Given the description of an element on the screen output the (x, y) to click on. 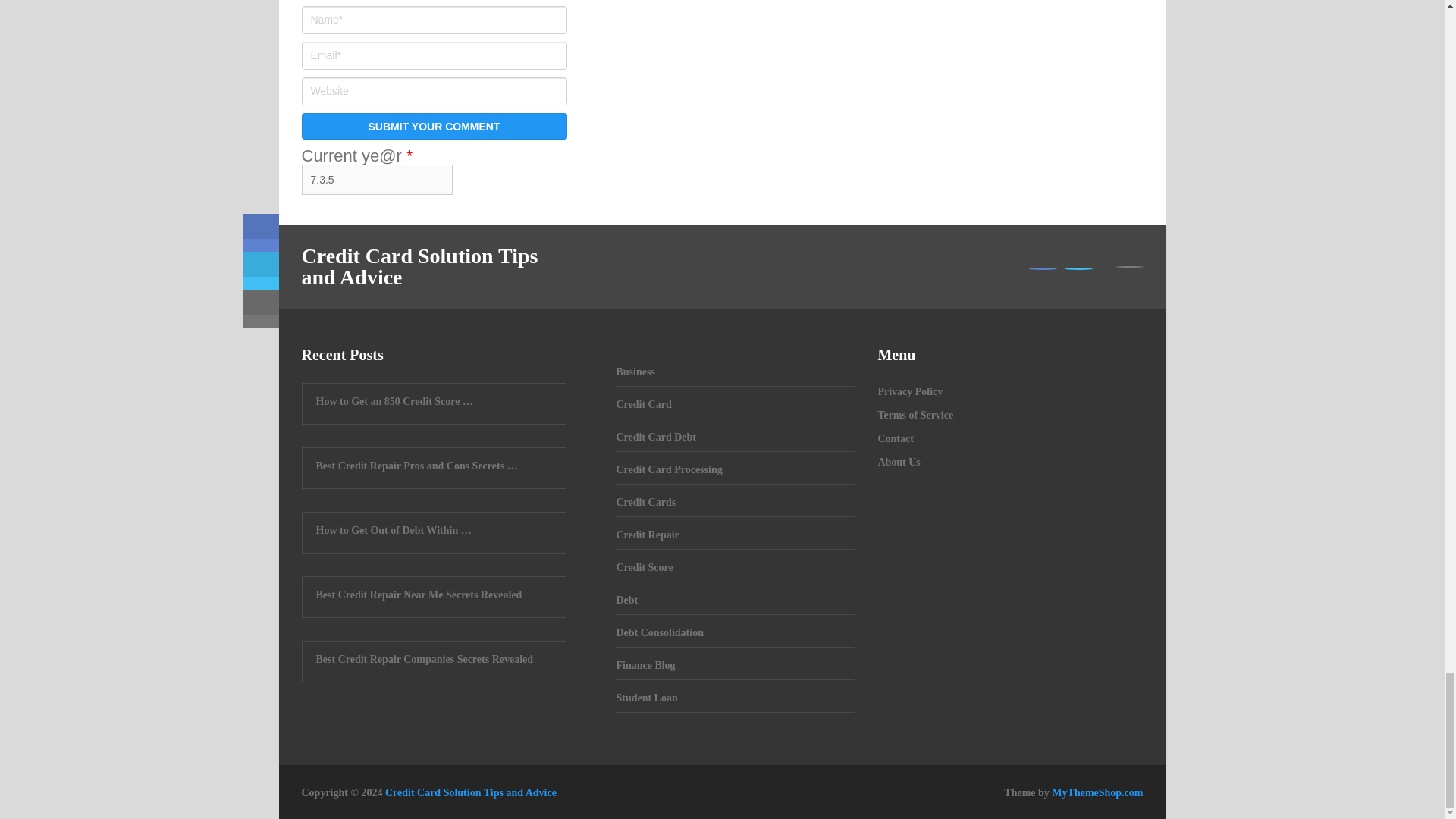
Best Credit Repair Near Me Secrets Revealed (433, 595)
Best Credit Repair Pros and Cons Secrets Revealed (433, 466)
Best Credit Repair Companies Secrets Revealed (433, 659)
Submit Your Comment (434, 126)
How to Get Out of Debt Within 3 Years (433, 530)
7.3.5 (376, 179)
Submit Your Comment (434, 126)
How to Get an 850 Credit Score for Free (433, 401)
